Given the description of an element on the screen output the (x, y) to click on. 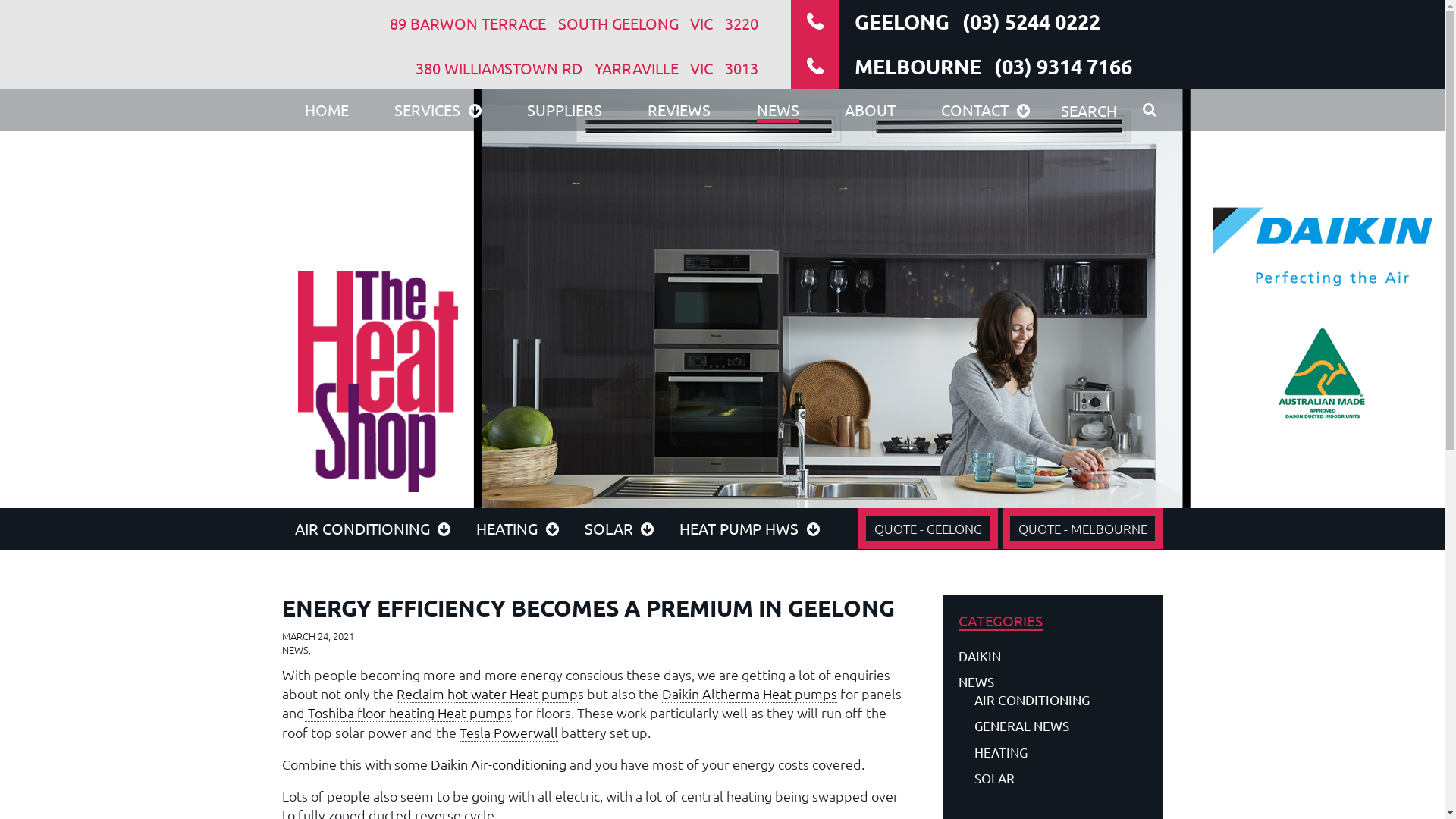
HOME Element type: text (326, 111)
Tesla Powerwall Element type: text (508, 732)
REVIEWS Element type: text (678, 111)
SOLAR Element type: text (1051, 777)
AIR CONDITIONING Element type: text (372, 527)
DAIKIN Element type: text (1052, 655)
CONTACT Element type: text (985, 111)
Daikin Air-conditioning Element type: text (498, 764)
AIR CONDITIONING Element type: text (1051, 699)
QUOTE - MELBOURNE Element type: text (1082, 528)
Search for: Element type: hover (1107, 109)
SUPPLIERS Element type: text (564, 111)
Daikin Altherma Heat pumps Element type: text (749, 693)
NEWS Element type: text (1052, 681)
HEATING Element type: text (1051, 752)
Reclaim hot water Heat pump Element type: text (486, 693)
SOLAR Element type: text (619, 527)
GENERAL NEWS Element type: text (1051, 725)
HEATING Element type: text (517, 527)
QUOTE - GEELONG Element type: text (927, 528)
NEWS Element type: text (777, 111)
Toshiba floor heating Heat pumps Element type: text (407, 712)
SERVICES Element type: text (437, 111)
ABOUT Element type: text (869, 111)
HEAT PUMP HWS Element type: text (749, 527)
